Given the description of an element on the screen output the (x, y) to click on. 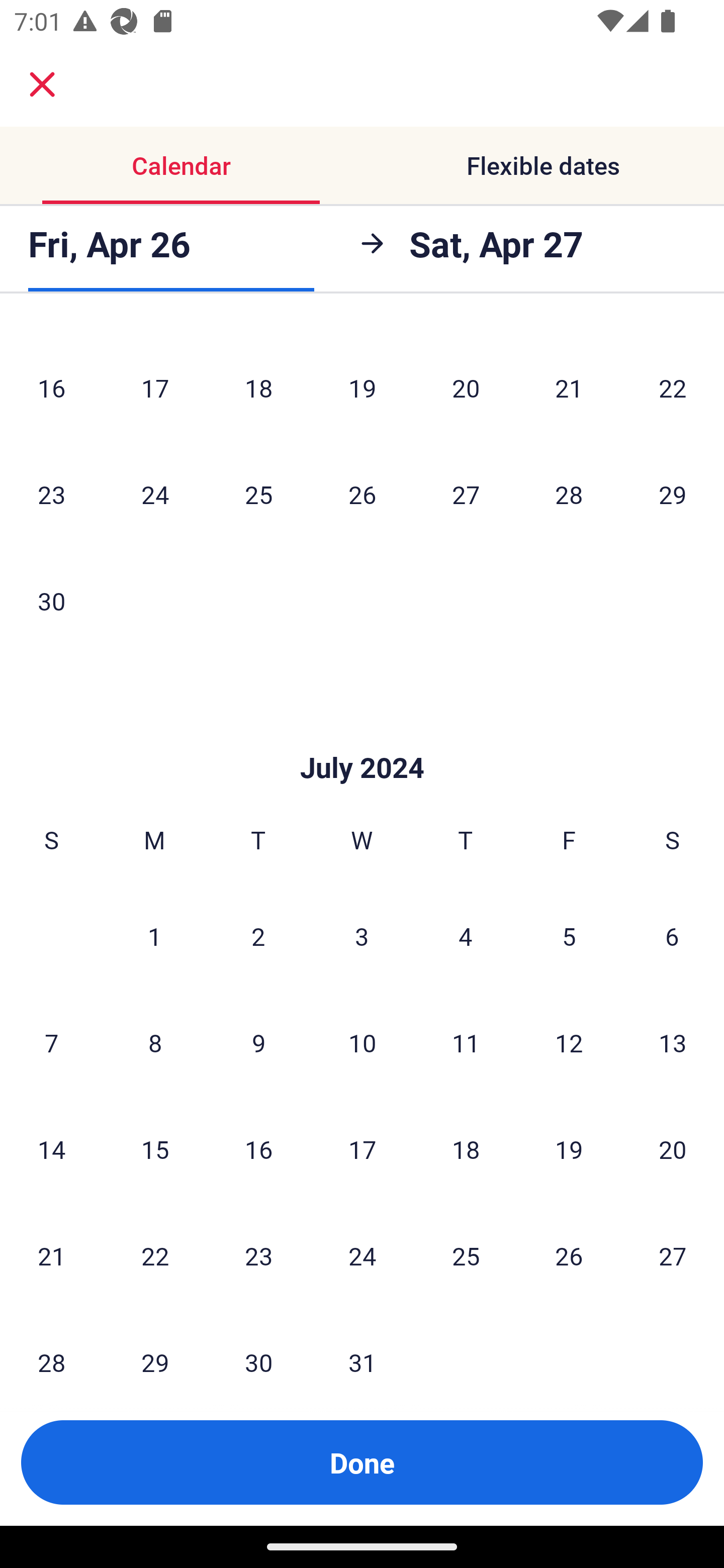
close. (42, 84)
Flexible dates (542, 164)
16 Sunday, June 16, 2024 (51, 387)
17 Monday, June 17, 2024 (155, 387)
18 Tuesday, June 18, 2024 (258, 387)
19 Wednesday, June 19, 2024 (362, 387)
20 Thursday, June 20, 2024 (465, 387)
21 Friday, June 21, 2024 (569, 387)
22 Saturday, June 22, 2024 (672, 387)
23 Sunday, June 23, 2024 (51, 493)
24 Monday, June 24, 2024 (155, 493)
25 Tuesday, June 25, 2024 (258, 493)
26 Wednesday, June 26, 2024 (362, 493)
27 Thursday, June 27, 2024 (465, 493)
28 Friday, June 28, 2024 (569, 493)
29 Saturday, June 29, 2024 (672, 493)
30 Sunday, June 30, 2024 (51, 600)
1 Monday, July 1, 2024 (154, 935)
2 Tuesday, July 2, 2024 (257, 935)
3 Wednesday, July 3, 2024 (361, 935)
4 Thursday, July 4, 2024 (465, 935)
5 Friday, July 5, 2024 (568, 935)
6 Saturday, July 6, 2024 (672, 935)
7 Sunday, July 7, 2024 (51, 1042)
8 Monday, July 8, 2024 (155, 1042)
9 Tuesday, July 9, 2024 (258, 1042)
10 Wednesday, July 10, 2024 (362, 1042)
11 Thursday, July 11, 2024 (465, 1042)
12 Friday, July 12, 2024 (569, 1042)
13 Saturday, July 13, 2024 (672, 1042)
14 Sunday, July 14, 2024 (51, 1149)
15 Monday, July 15, 2024 (155, 1149)
16 Tuesday, July 16, 2024 (258, 1149)
17 Wednesday, July 17, 2024 (362, 1149)
18 Thursday, July 18, 2024 (465, 1149)
19 Friday, July 19, 2024 (569, 1149)
20 Saturday, July 20, 2024 (672, 1149)
21 Sunday, July 21, 2024 (51, 1255)
22 Monday, July 22, 2024 (155, 1255)
23 Tuesday, July 23, 2024 (258, 1255)
24 Wednesday, July 24, 2024 (362, 1255)
25 Thursday, July 25, 2024 (465, 1255)
26 Friday, July 26, 2024 (569, 1255)
27 Saturday, July 27, 2024 (672, 1255)
28 Sunday, July 28, 2024 (51, 1344)
29 Monday, July 29, 2024 (155, 1344)
30 Tuesday, July 30, 2024 (258, 1344)
31 Wednesday, July 31, 2024 (362, 1344)
Done (361, 1462)
